Given the description of an element on the screen output the (x, y) to click on. 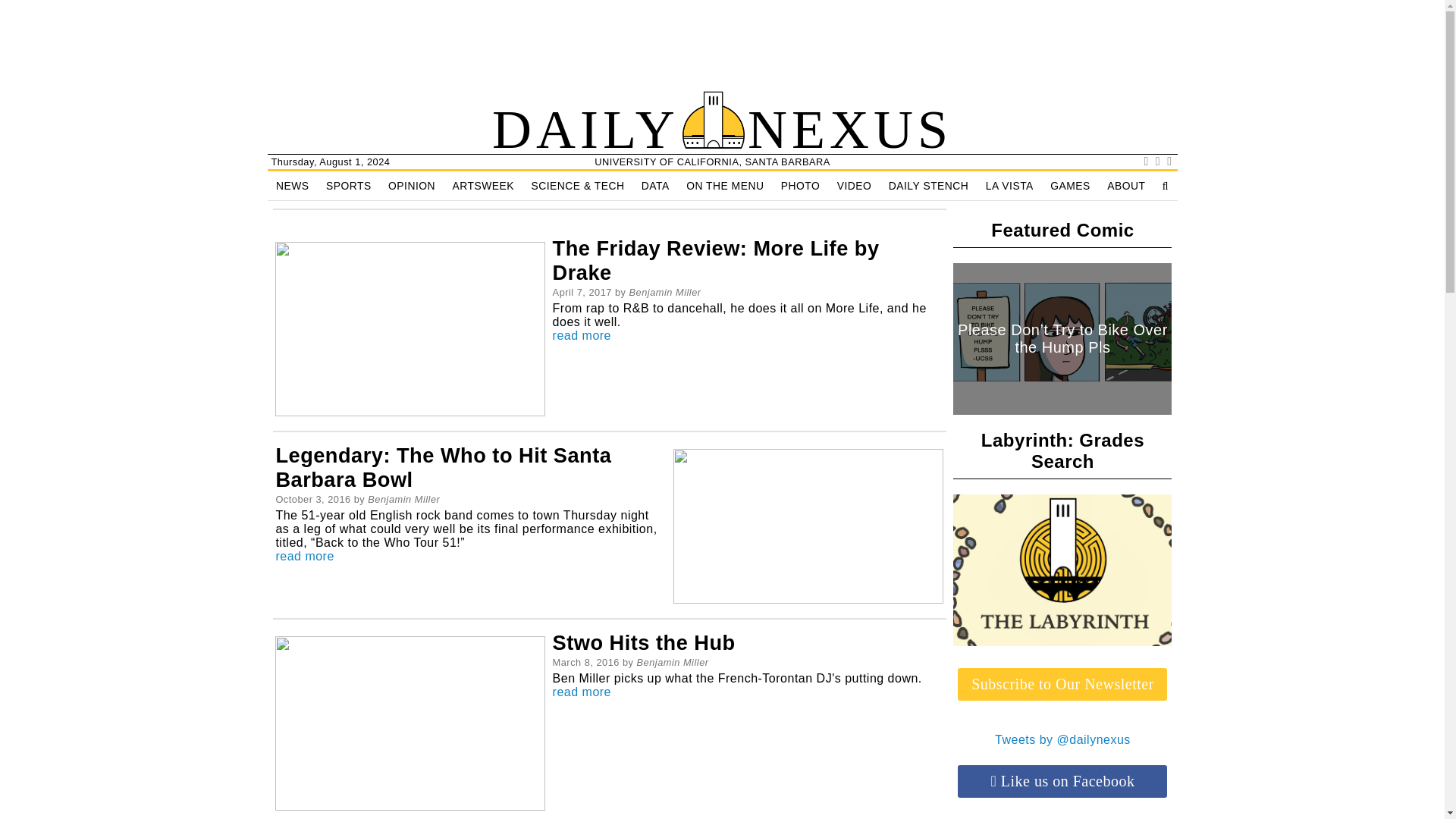
Posts by Benjamin Miller (673, 662)
Posts by Benjamin Miller (403, 499)
Posts by Benjamin Miller (664, 292)
